Given the description of an element on the screen output the (x, y) to click on. 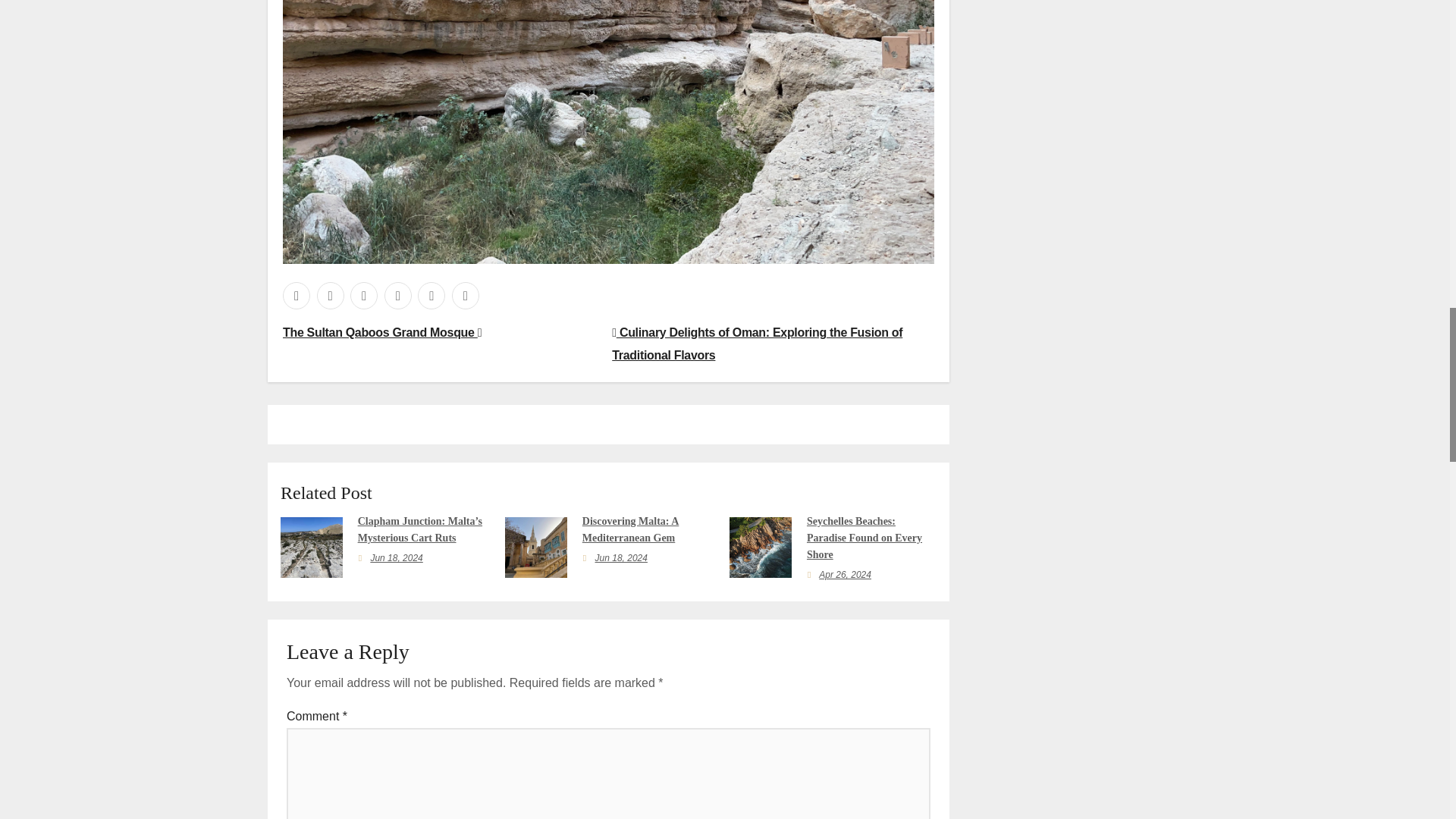
Jun 18, 2024 (395, 557)
Permalink to: Discovering Malta: A Mediterranean Gem (630, 529)
The Sultan Qaboos Grand Mosque (381, 332)
Discovering Malta: A Mediterranean Gem (630, 529)
